Given the description of an element on the screen output the (x, y) to click on. 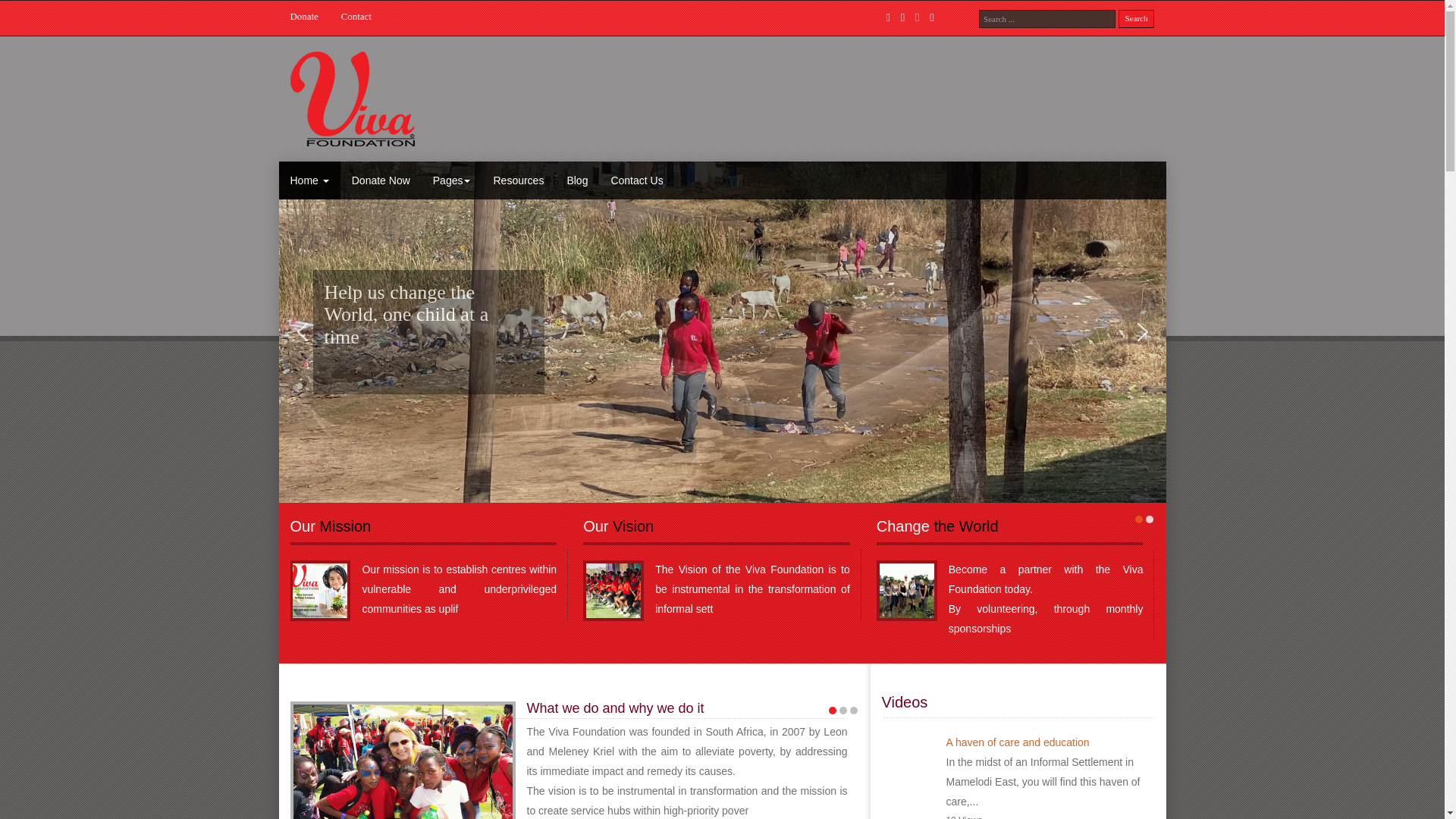
Viva Foundation (351, 98)
Our Mission (319, 590)
Change the World (906, 590)
Our Vision (613, 590)
Donate (314, 17)
Contact (367, 17)
Search (1136, 18)
Home (309, 180)
Donate Now (381, 180)
